Given the description of an element on the screen output the (x, y) to click on. 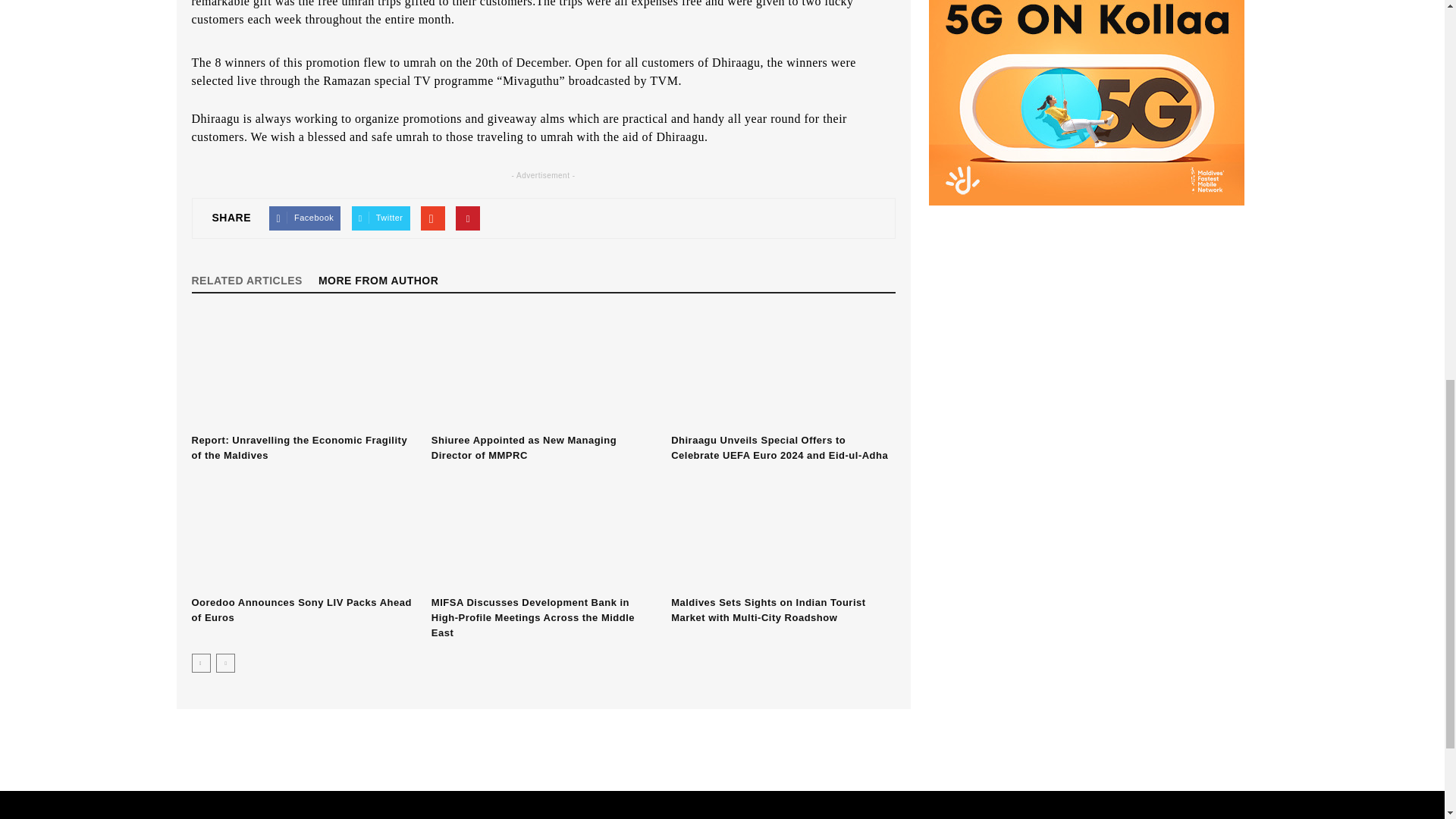
Ooredoo Announces Sony LIV Packs Ahead of Euros (300, 610)
Ooredoo Announces Sony LIV Packs Ahead of Euros (302, 532)
Facebook (304, 218)
Shiuree Appointed as New Managing Director of MMPRC (542, 370)
Shiuree Appointed as New Managing Director of MMPRC (522, 447)
Report: Unravelling the Economic Fragility of the Maldives (298, 447)
Twitter (381, 218)
Report: Unravelling the Economic Fragility of the Maldives (302, 370)
